Given the description of an element on the screen output the (x, y) to click on. 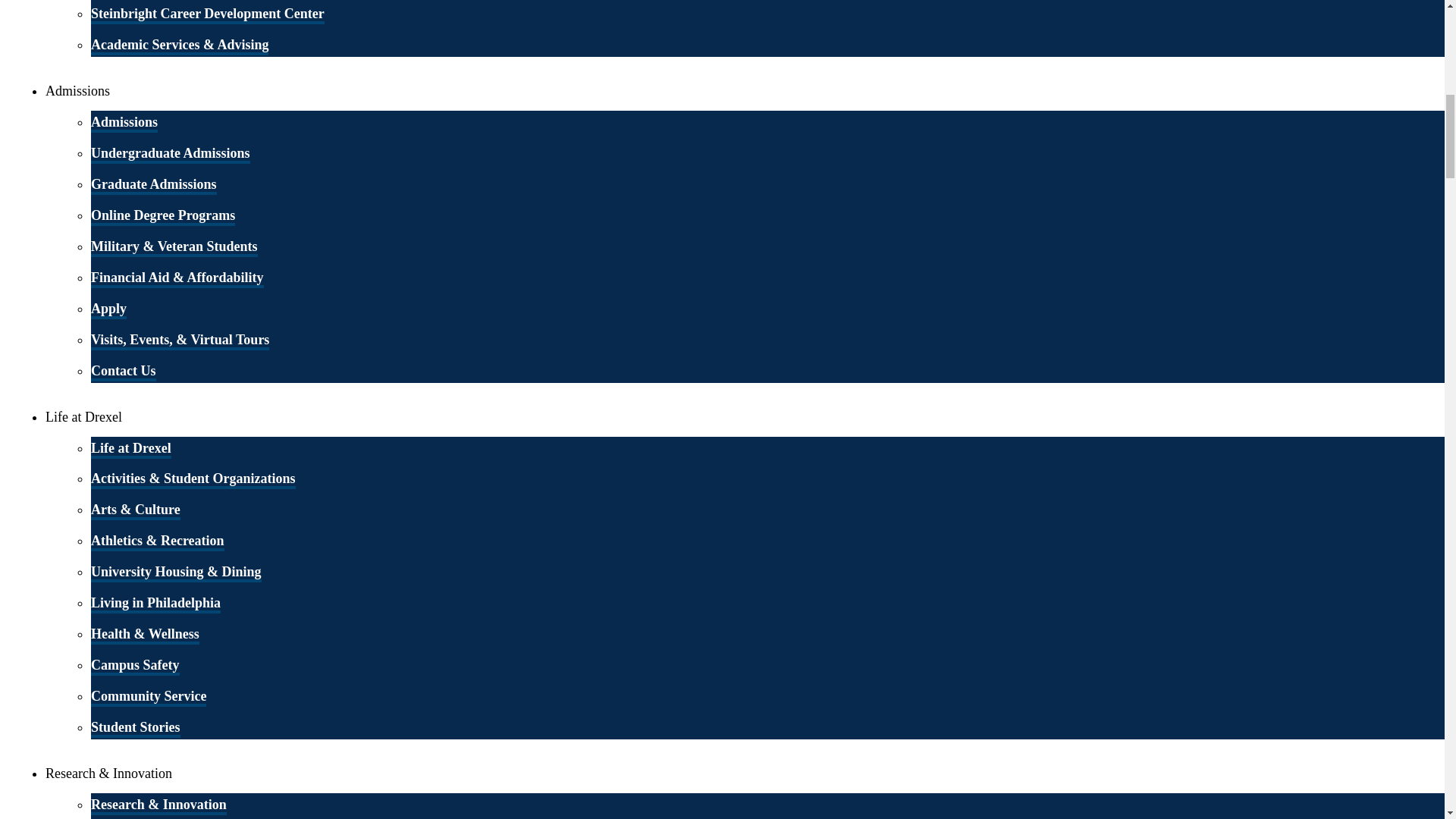
Admissions (123, 123)
Contact Us (122, 372)
Steinbright Career Development Center (207, 14)
Living in Philadelphia (155, 604)
Campus Safety (134, 666)
Life at Drexel (130, 448)
Undergraduate Admissions (170, 154)
Online Degree Programs (162, 217)
Graduate Admissions (153, 185)
Apply (108, 310)
